Given the description of an element on the screen output the (x, y) to click on. 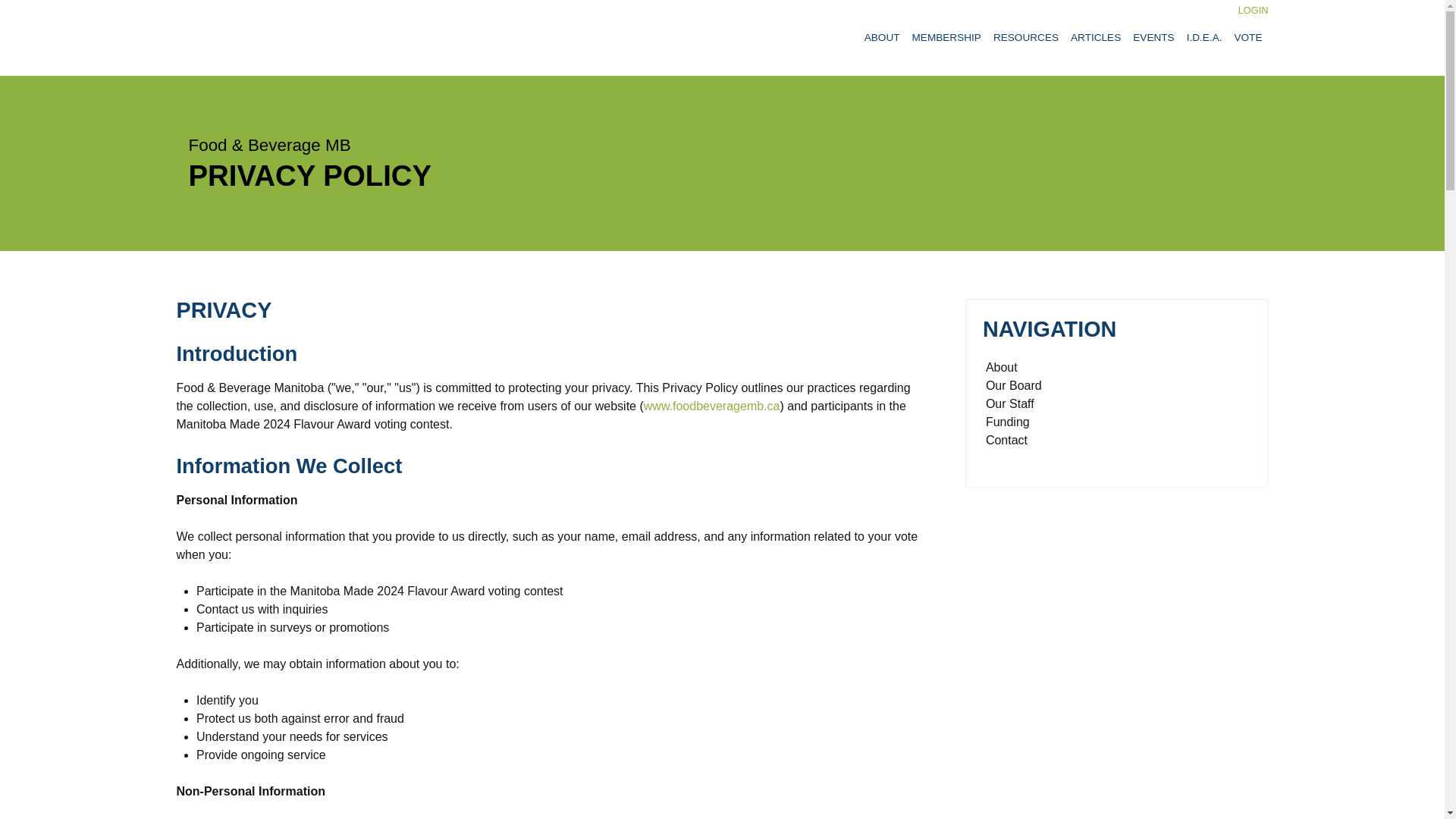
MEMBERSHIP (946, 38)
Our Board (1013, 385)
RESOURCES (1025, 38)
About (1001, 367)
LOGIN (1253, 9)
www.foodbeveragemb.ca (711, 405)
